Given the description of an element on the screen output the (x, y) to click on. 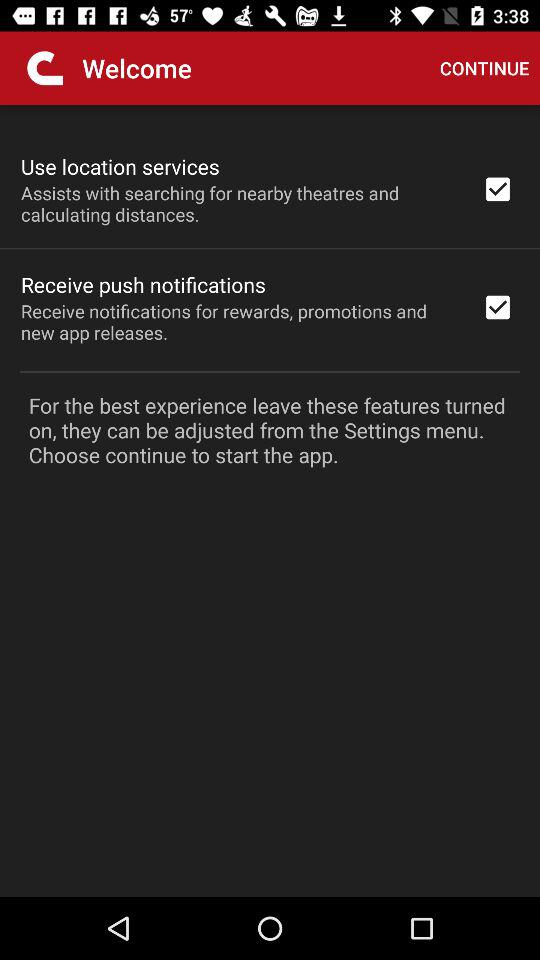
select use location services (120, 166)
